Given the description of an element on the screen output the (x, y) to click on. 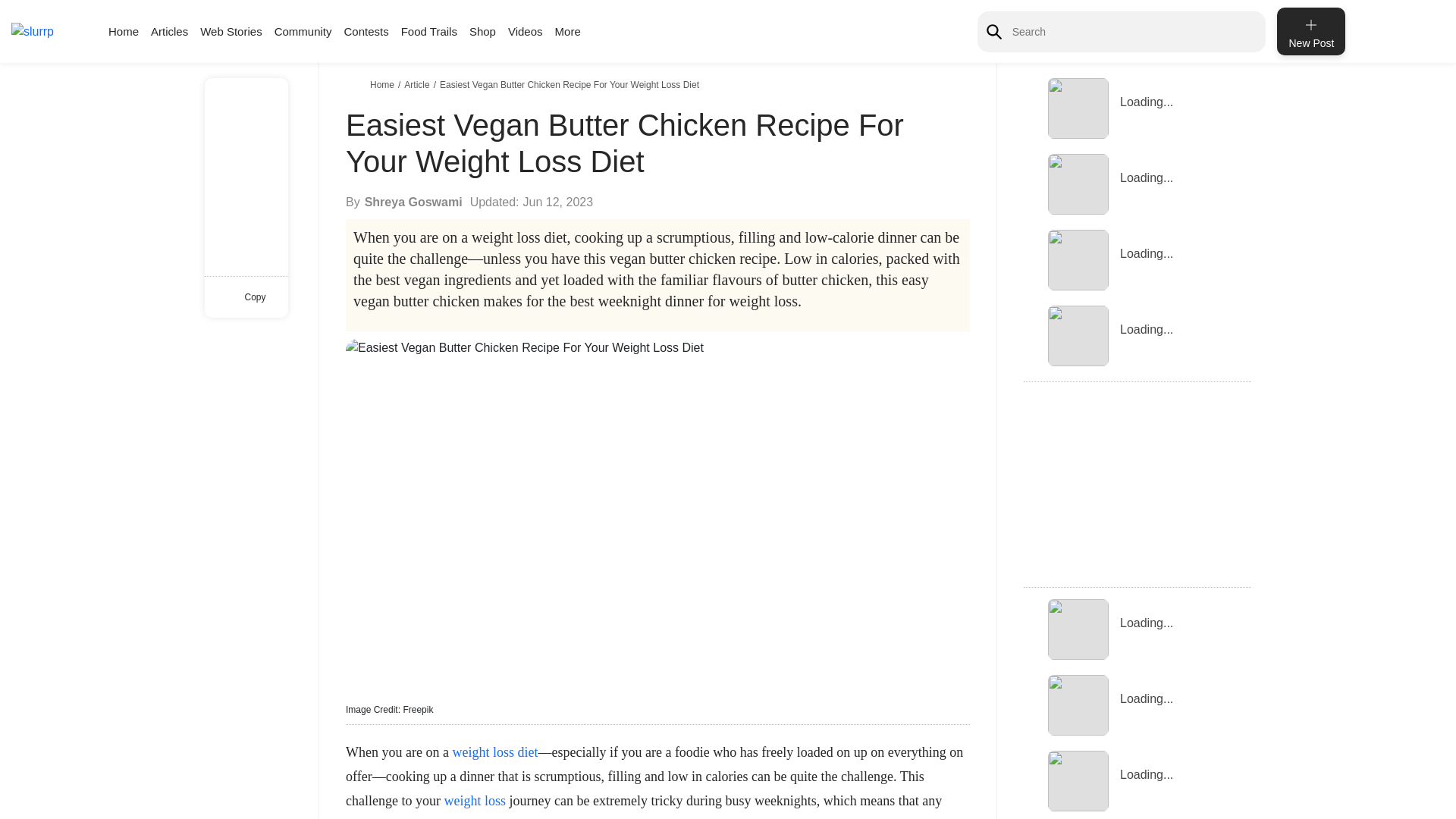
Home (383, 84)
Food Trails (429, 31)
Videos (525, 31)
Community (303, 31)
Articles (169, 31)
Web Stories (231, 31)
Contests (365, 31)
Home (122, 31)
New Post (1310, 31)
Shop (482, 31)
